Given the description of an element on the screen output the (x, y) to click on. 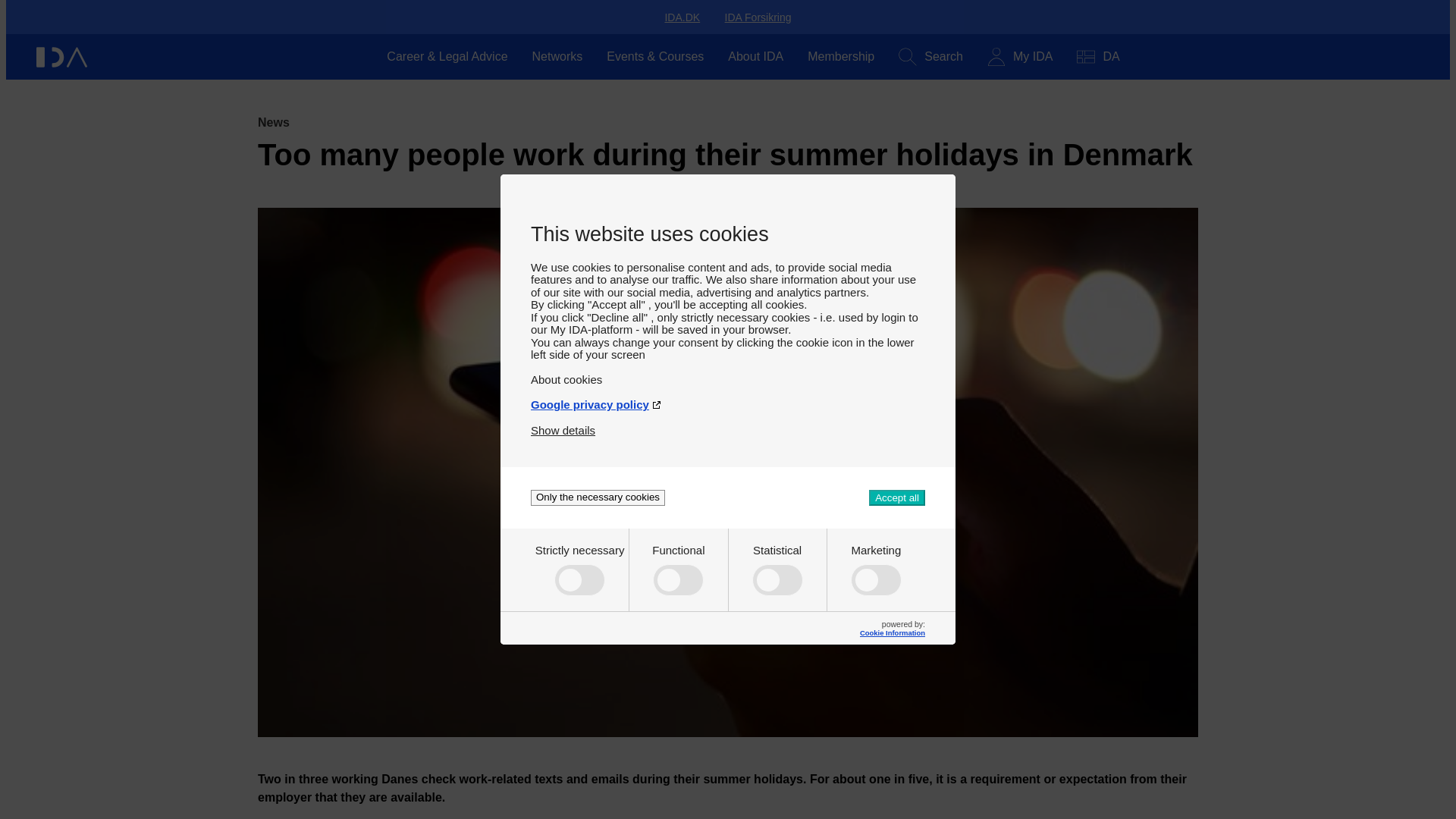
Google privacy policy (727, 398)
About cookies (727, 373)
Show details (563, 423)
